Given the description of an element on the screen output the (x, y) to click on. 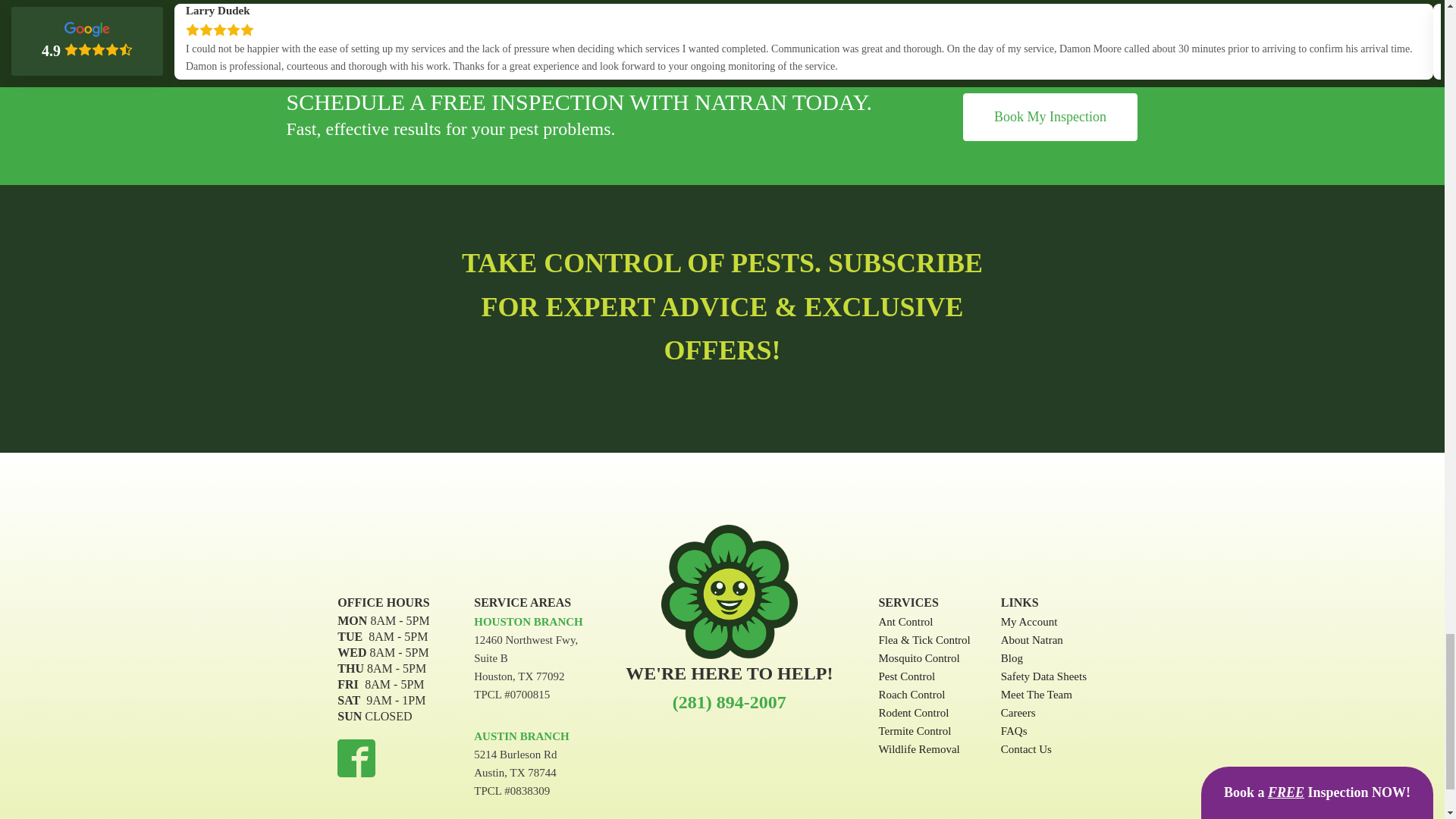
Roach Control (923, 694)
Ant Control (923, 621)
Book My Inspection (1049, 116)
Pest Control (923, 676)
Rodent Control (923, 712)
AUSTIN BRANCH (521, 736)
Mosquito Control (923, 658)
HOUSTON BRANCH (528, 621)
Termite Control (923, 730)
